Given the description of an element on the screen output the (x, y) to click on. 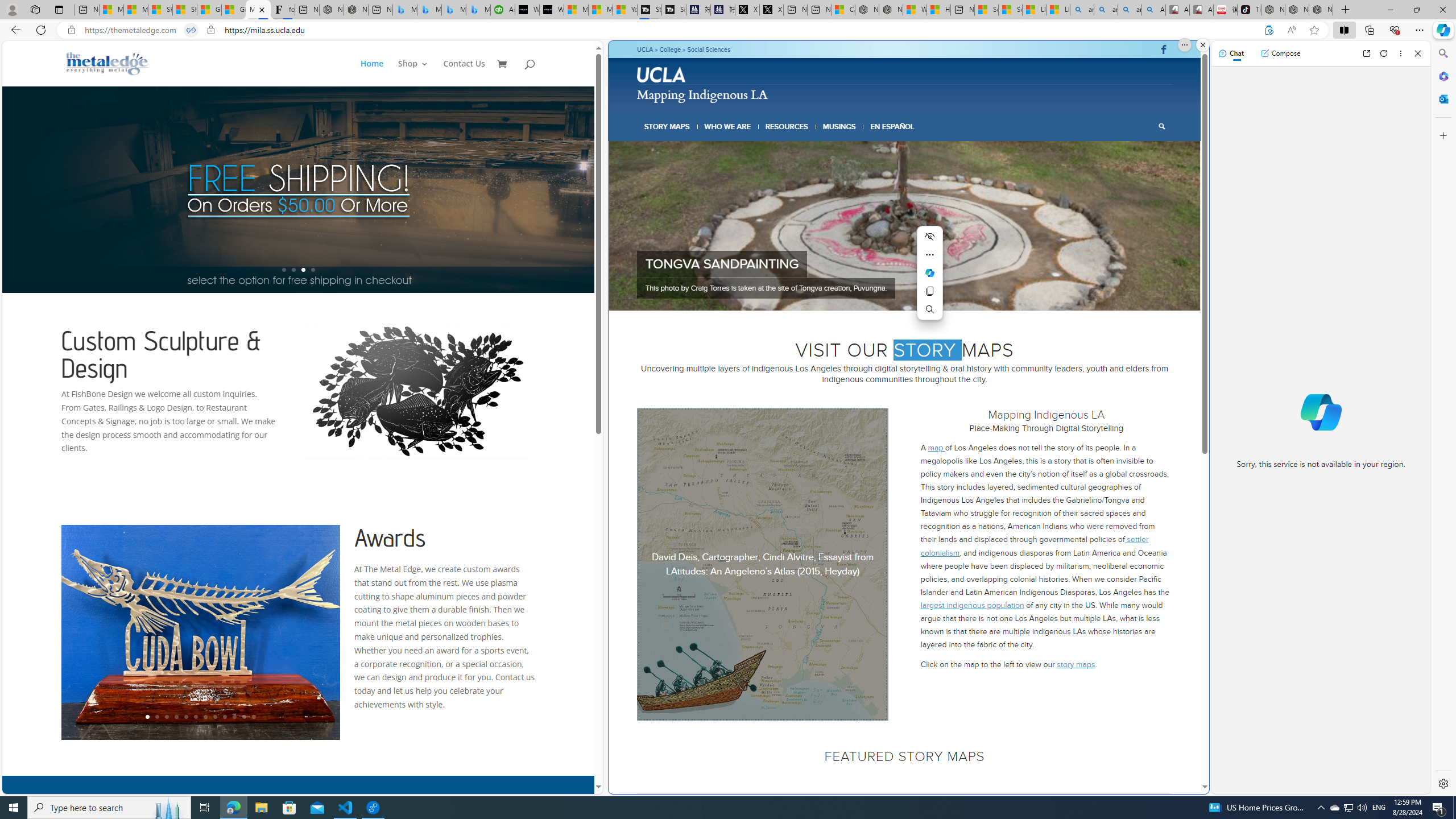
Support THE UCLA FOUNDATION? (1268, 29)
More actions (929, 254)
RESOURCES (786, 126)
10 (233, 716)
Nordace - #1 Japanese Best-Seller - Siena Smart Backpack (355, 9)
9 (224, 716)
WHO WE ARE (727, 126)
Tab actions menu (58, 9)
New Tab (1346, 9)
View site information (210, 29)
Microsoft 365 (1442, 76)
Back (13, 29)
Search (1161, 126)
More options (1401, 53)
MUSINGS (839, 126)
